Given the description of an element on the screen output the (x, y) to click on. 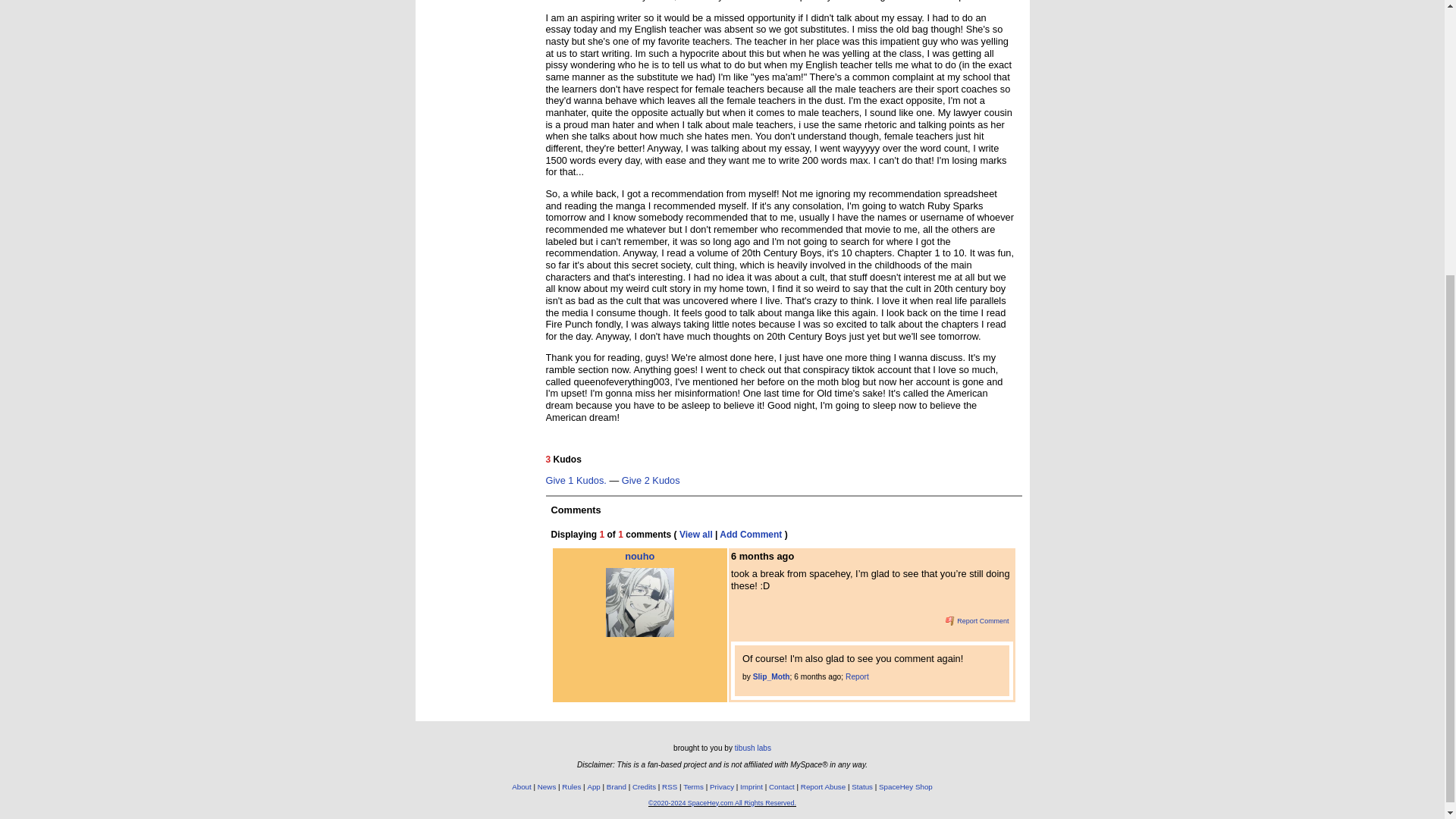
News (546, 786)
Give 2 Kudos (650, 480)
nouho (639, 594)
Add Comment (750, 534)
Report (857, 676)
Give 1 Kudos. (576, 480)
tibush labs (753, 747)
Brand (616, 786)
Rules (571, 786)
View all (696, 534)
